Given the description of an element on the screen output the (x, y) to click on. 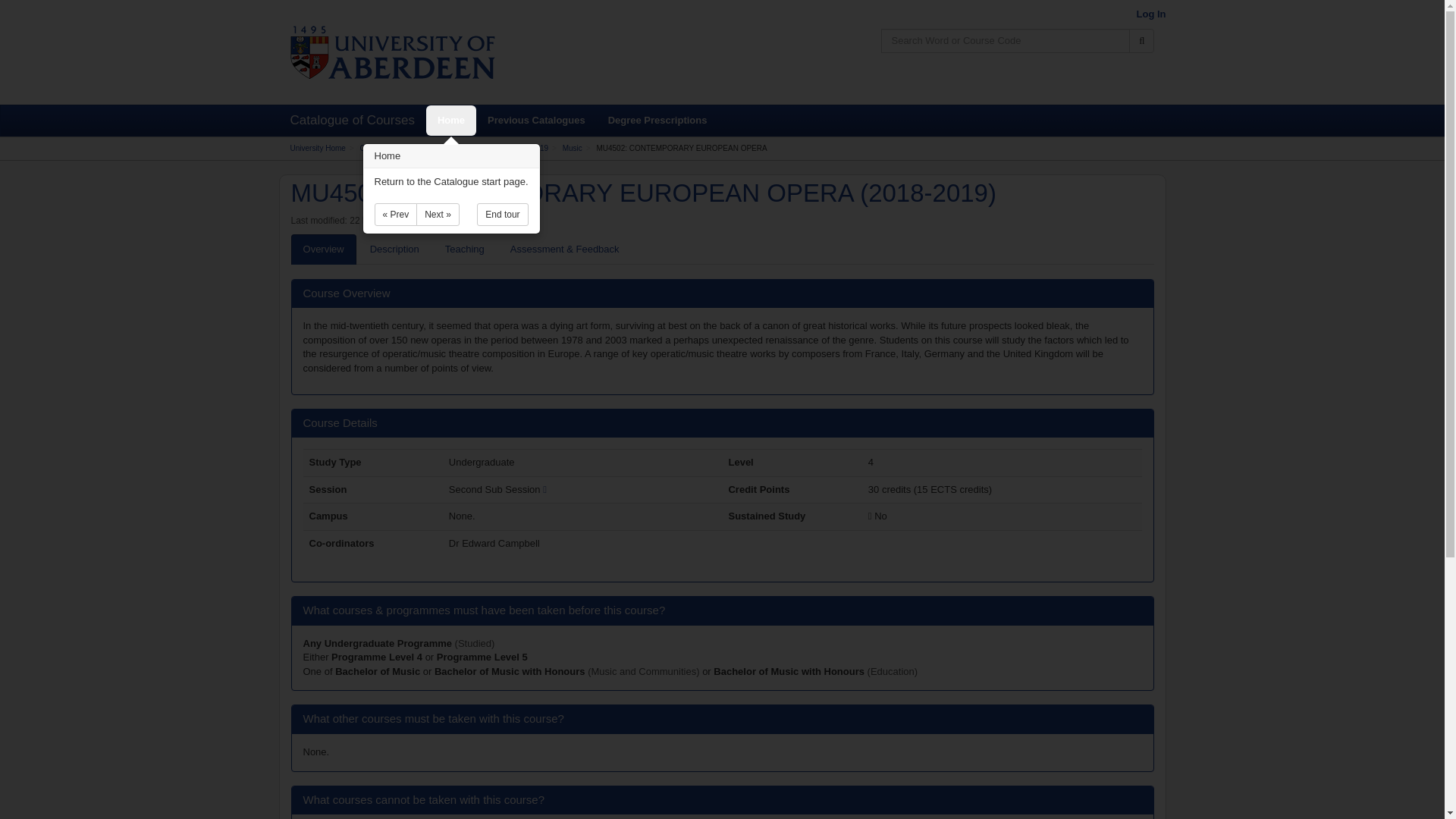
University of Aberdeen (392, 52)
Degree Prescriptions (657, 120)
Overview (323, 249)
Previous Catalogues (536, 120)
UG (378, 643)
Search Catalogue (1141, 41)
University Home (317, 148)
Music (572, 148)
Home (451, 120)
Catalogue of Courses (395, 148)
Log In (1150, 13)
Undergraduate (471, 148)
2018-2019 (530, 148)
End tour (502, 214)
Teaching (464, 249)
